Given the description of an element on the screen output the (x, y) to click on. 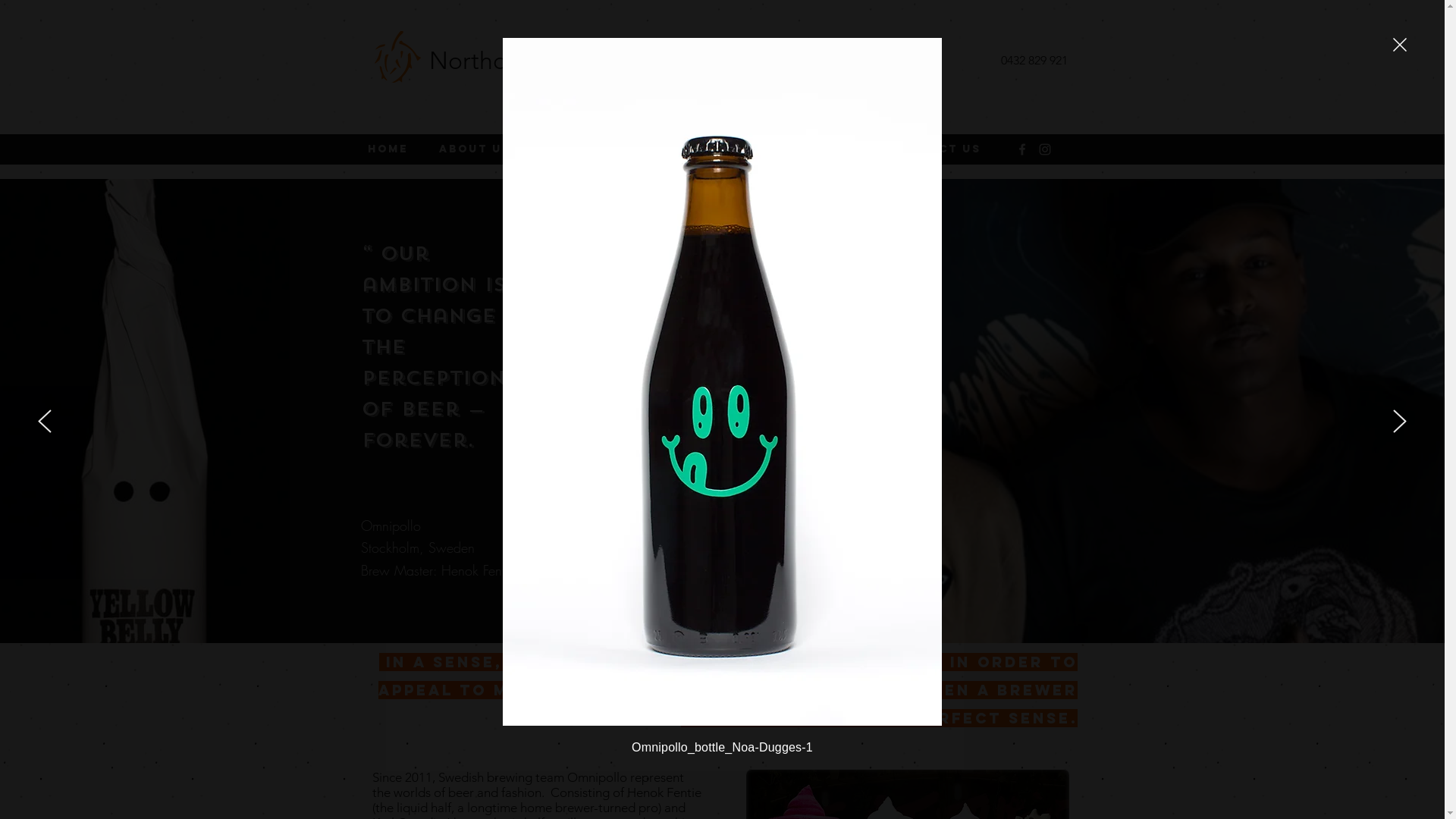
About Us Element type: text (478, 149)
Home Element type: text (391, 149)
Contact Us Element type: text (939, 149)
Trade Info Element type: text (698, 149)
Social Feed Element type: text (817, 149)
Portfolio Element type: text (584, 149)
